Given the description of an element on the screen output the (x, y) to click on. 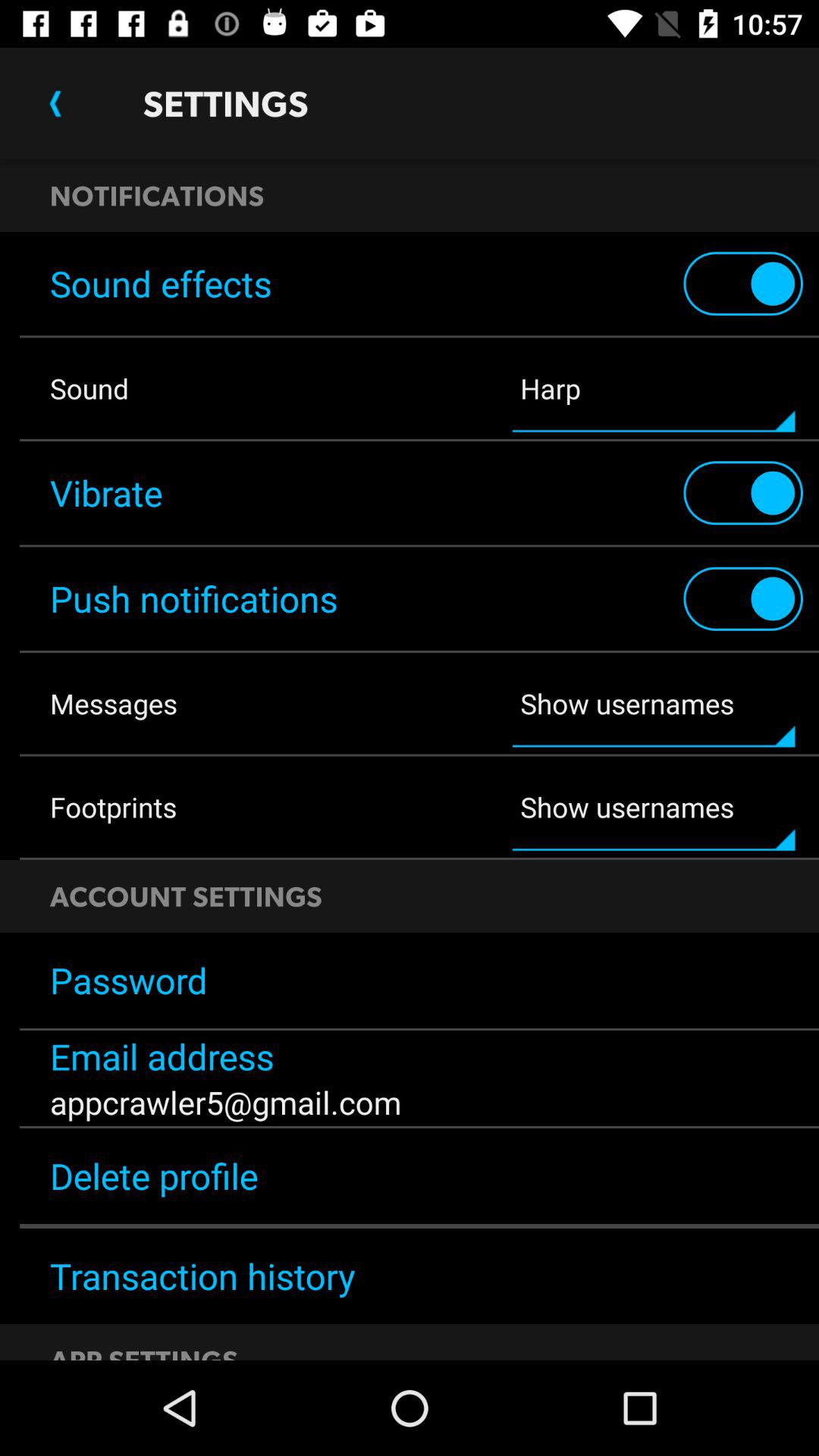
tap icon to the right of sound icon (653, 388)
